Given the description of an element on the screen output the (x, y) to click on. 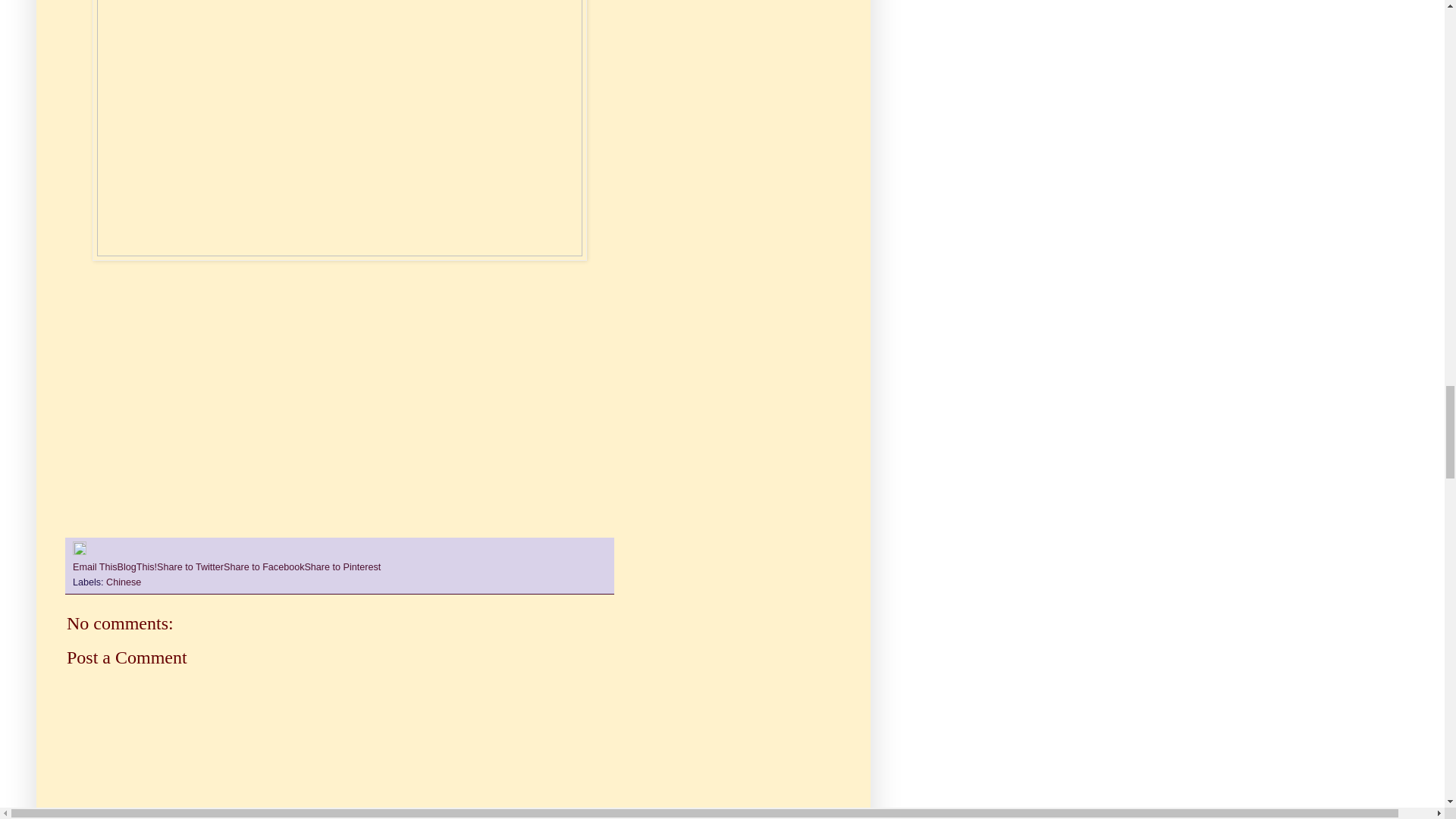
Share to Pinterest (342, 566)
Share to Twitter (190, 566)
BlogThis! (137, 566)
BlogThis! (137, 566)
Share to Facebook (264, 566)
Share to Facebook (264, 566)
Chinese (123, 582)
Email This (94, 566)
Email This (94, 566)
Edit Post (78, 552)
Share to Pinterest (342, 566)
Share to Twitter (190, 566)
